Given the description of an element on the screen output the (x, y) to click on. 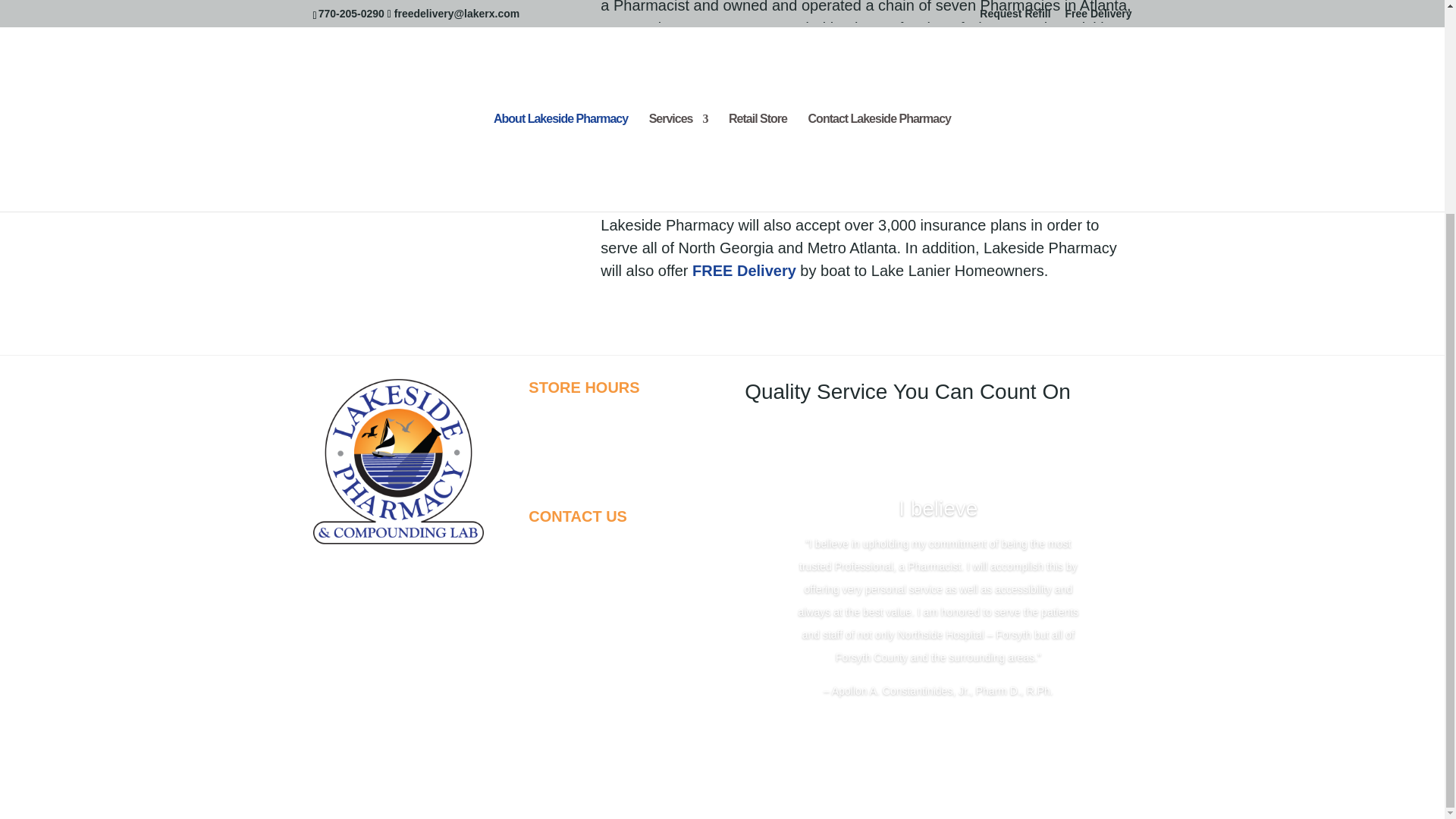
I believe (937, 508)
FREE Delivery (744, 270)
FREE Delivery (769, 202)
